Given the description of an element on the screen output the (x, y) to click on. 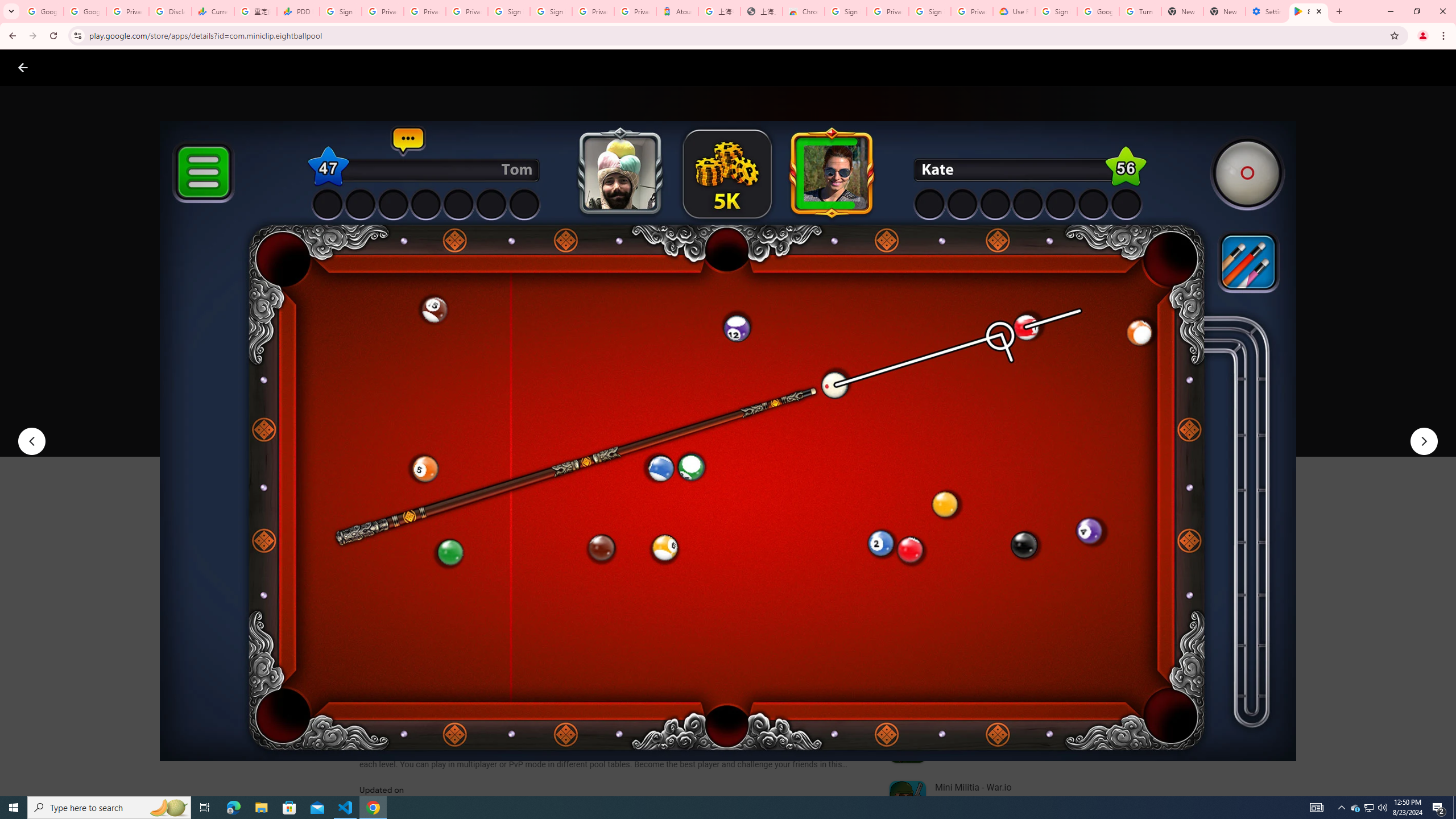
Google Play logo (64, 67)
Sign in - Google Accounts (1055, 11)
Games (141, 67)
New Tab (1224, 11)
Miniclip.com (386, 333)
